Given the description of an element on the screen output the (x, y) to click on. 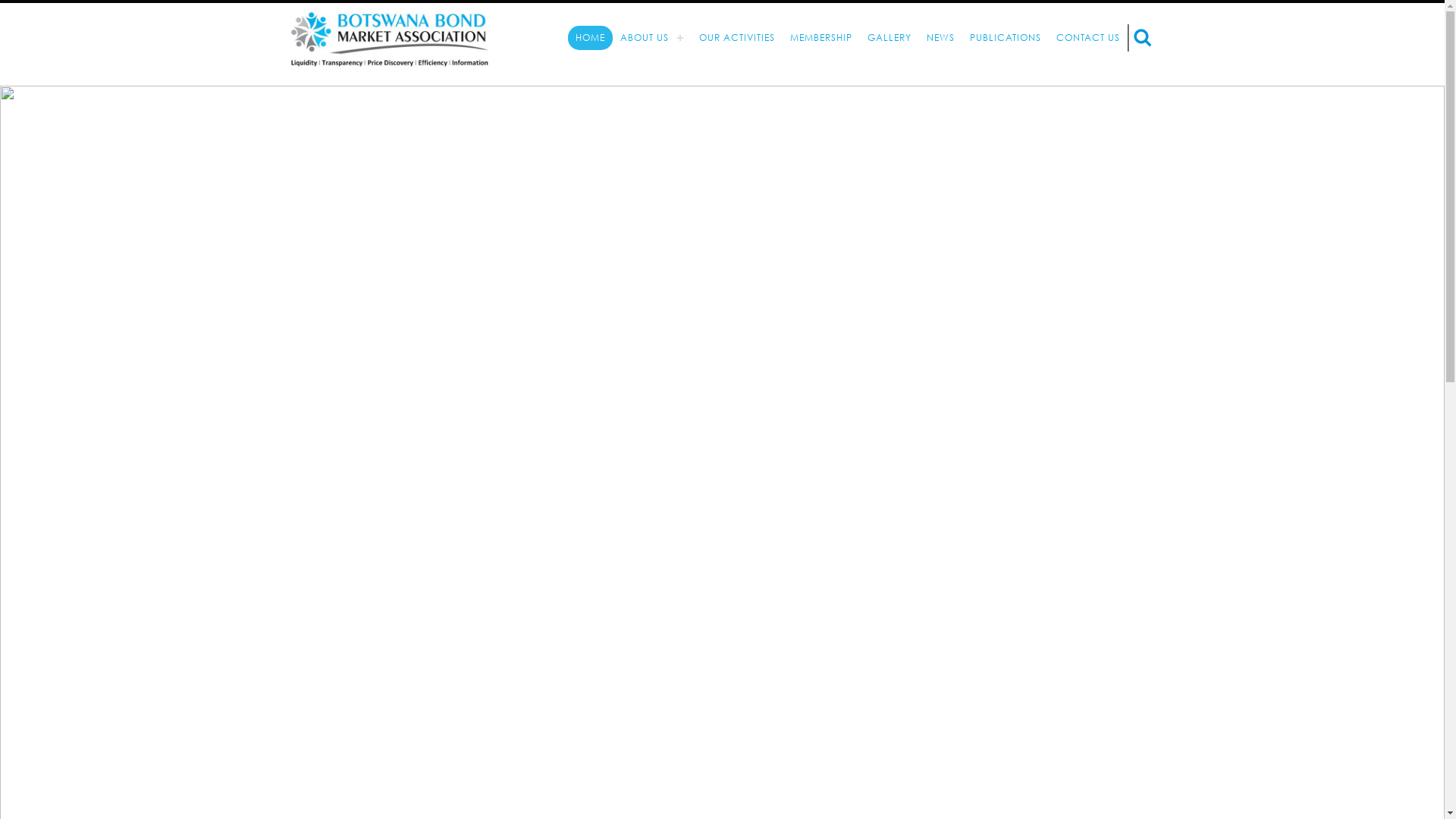
OUR ACTIVITIES Element type: text (736, 37)
CONTACT US Element type: text (1087, 37)
MEMBERSHIP Element type: text (820, 37)
PUBLICATIONS Element type: text (1004, 37)
HOME Element type: text (589, 37)
ABOUT US Element type: text (651, 37)
NEWS Element type: text (940, 37)
GALLERY Element type: text (889, 37)
